Given the description of an element on the screen output the (x, y) to click on. 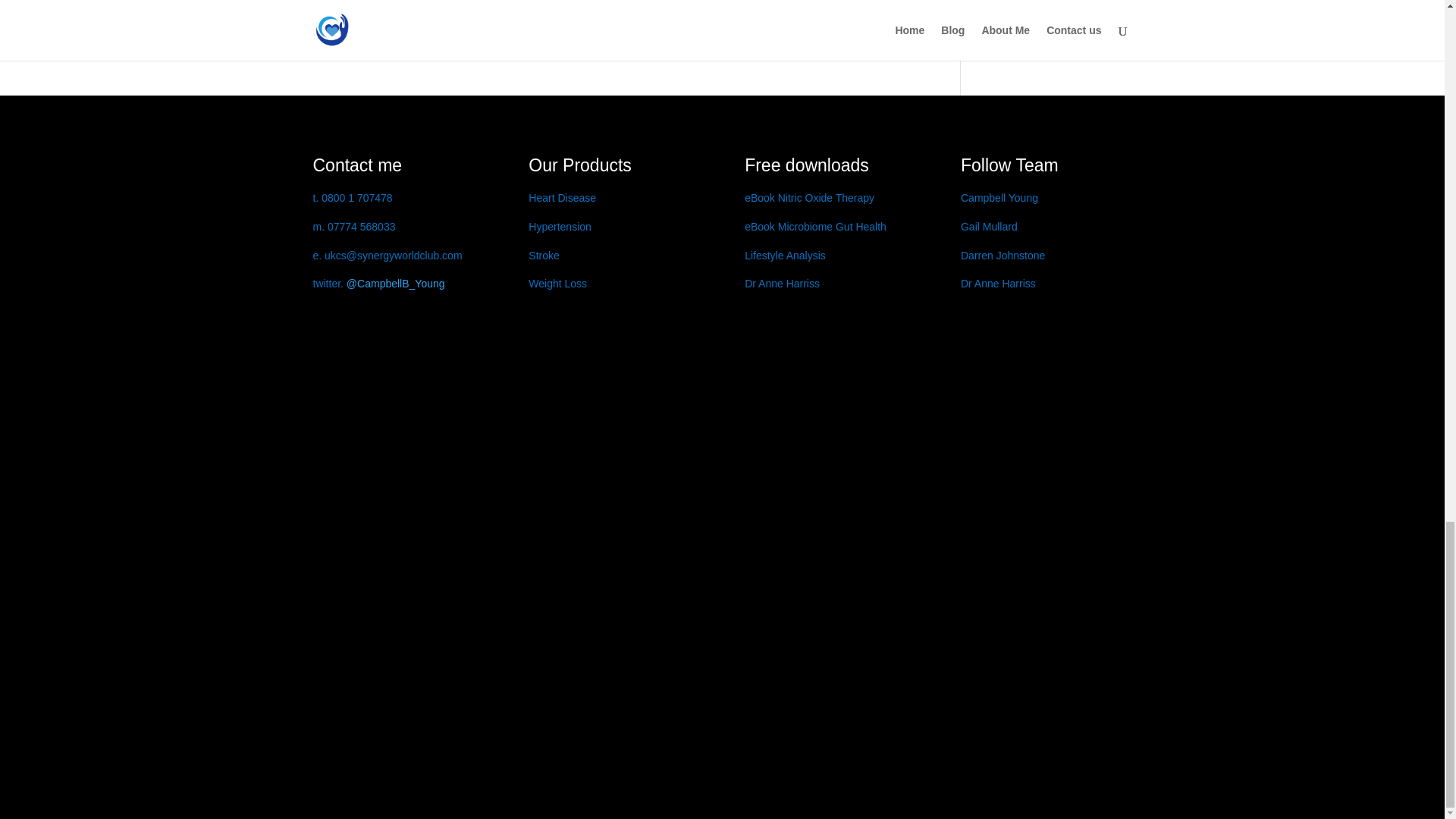
My Story (357, 165)
Contact me (357, 165)
